Given the description of an element on the screen output the (x, y) to click on. 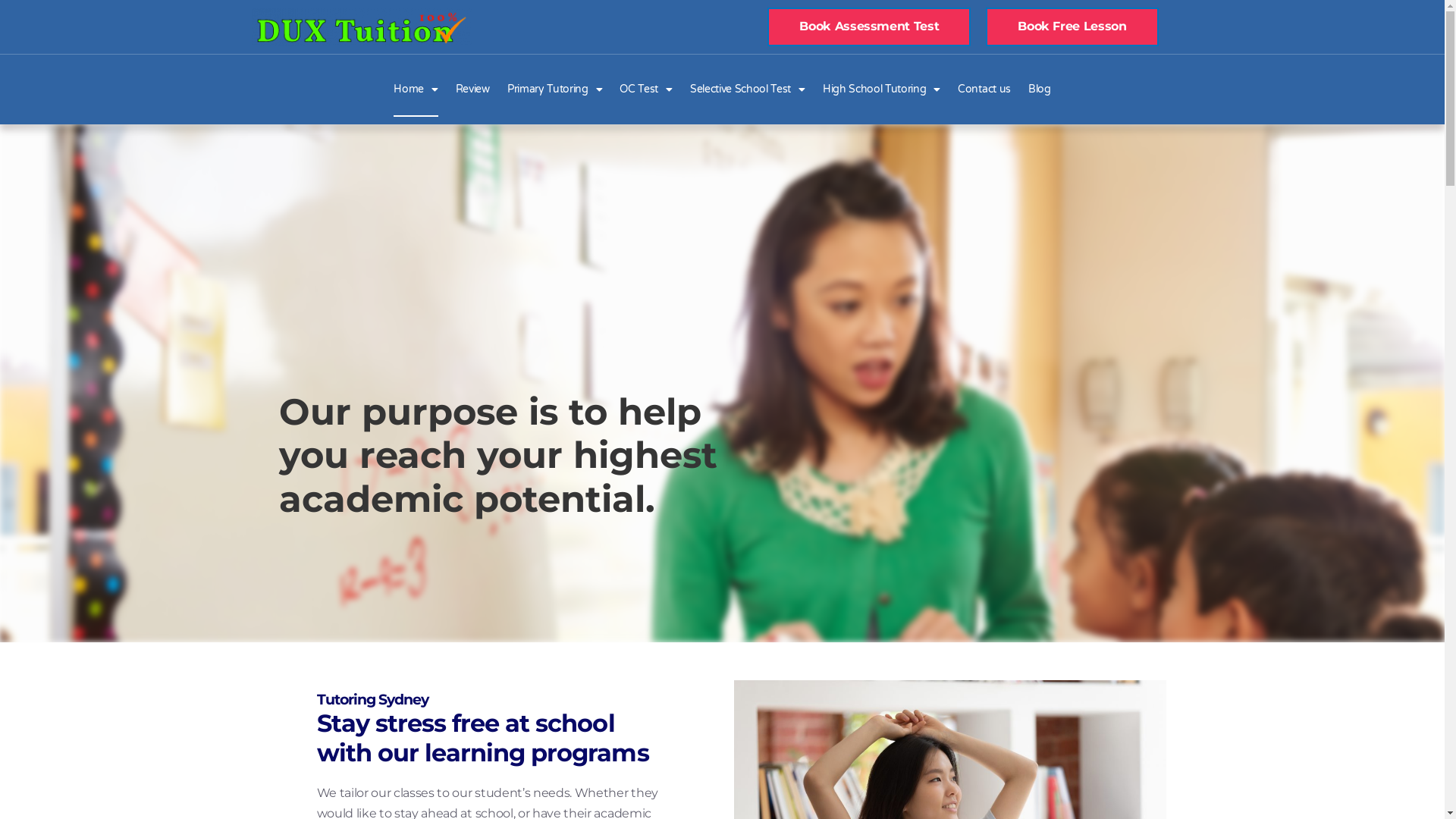
OC Test Element type: text (645, 89)
Review Element type: text (472, 89)
Contact us Element type: text (983, 89)
High School Tutoring Element type: text (881, 89)
Blog Element type: text (1039, 89)
Primary Tutoring Element type: text (554, 89)
Logo 2021-original simple Element type: hover (361, 26)
Selective School Test Element type: text (747, 89)
Home Element type: text (415, 89)
Book Free Lesson Element type: text (1071, 26)
Book Assessment Test Element type: text (868, 26)
